Given the description of an element on the screen output the (x, y) to click on. 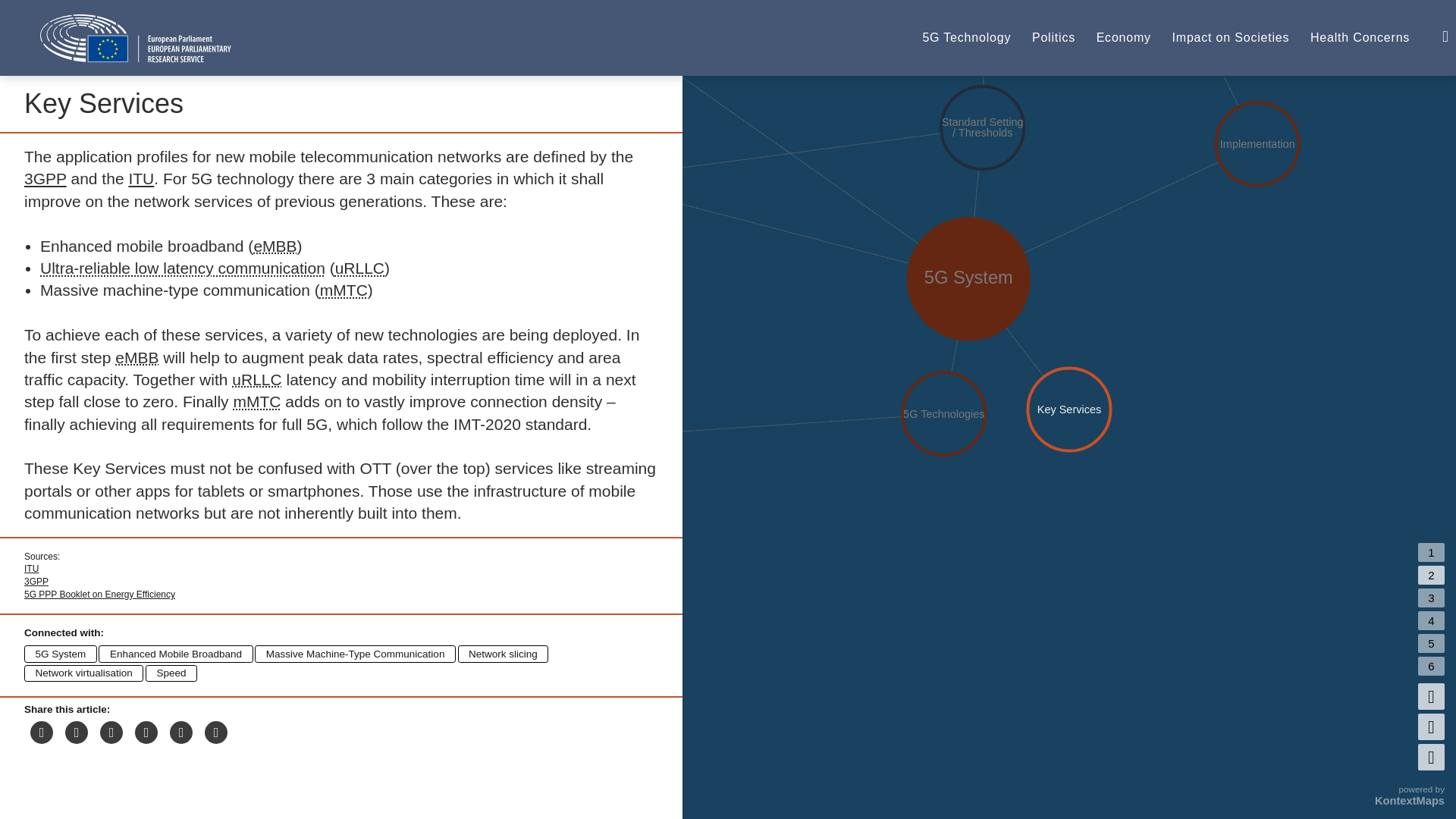
Health Concerns (1359, 38)
Economy (1123, 38)
Politics (1053, 38)
5G Technology (965, 38)
Impact on Societies (1231, 38)
